Given the description of an element on the screen output the (x, y) to click on. 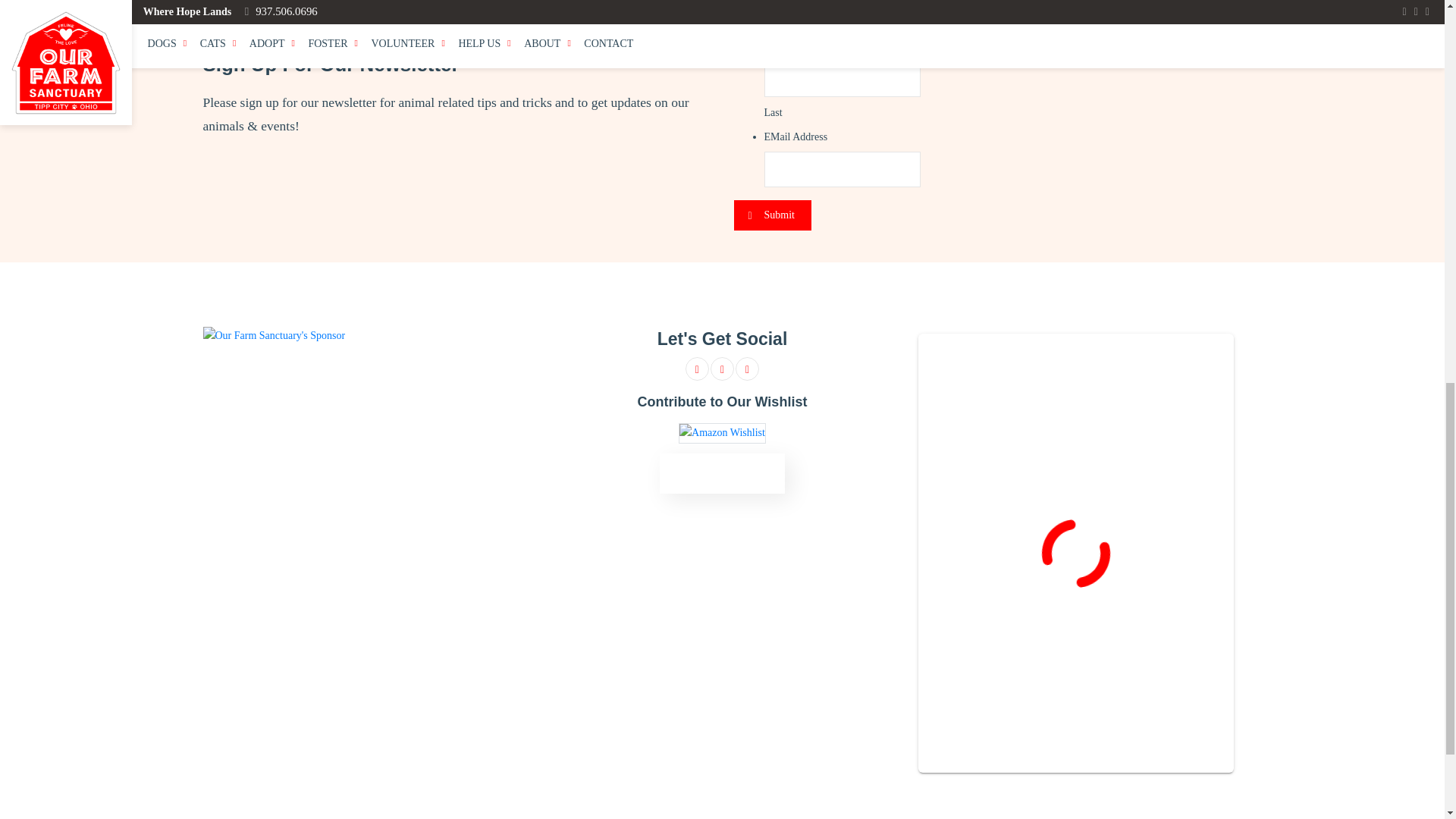
Follow Us on Instagram (722, 369)
Submit (771, 214)
Submit (771, 214)
MAKE A DONATION (722, 473)
Follow Us on Facebook (697, 369)
Follow Us on TikTok (747, 369)
Amazon Wishlist (721, 432)
Our Farm Sanctuary's Sponsor (274, 334)
